Given the description of an element on the screen output the (x, y) to click on. 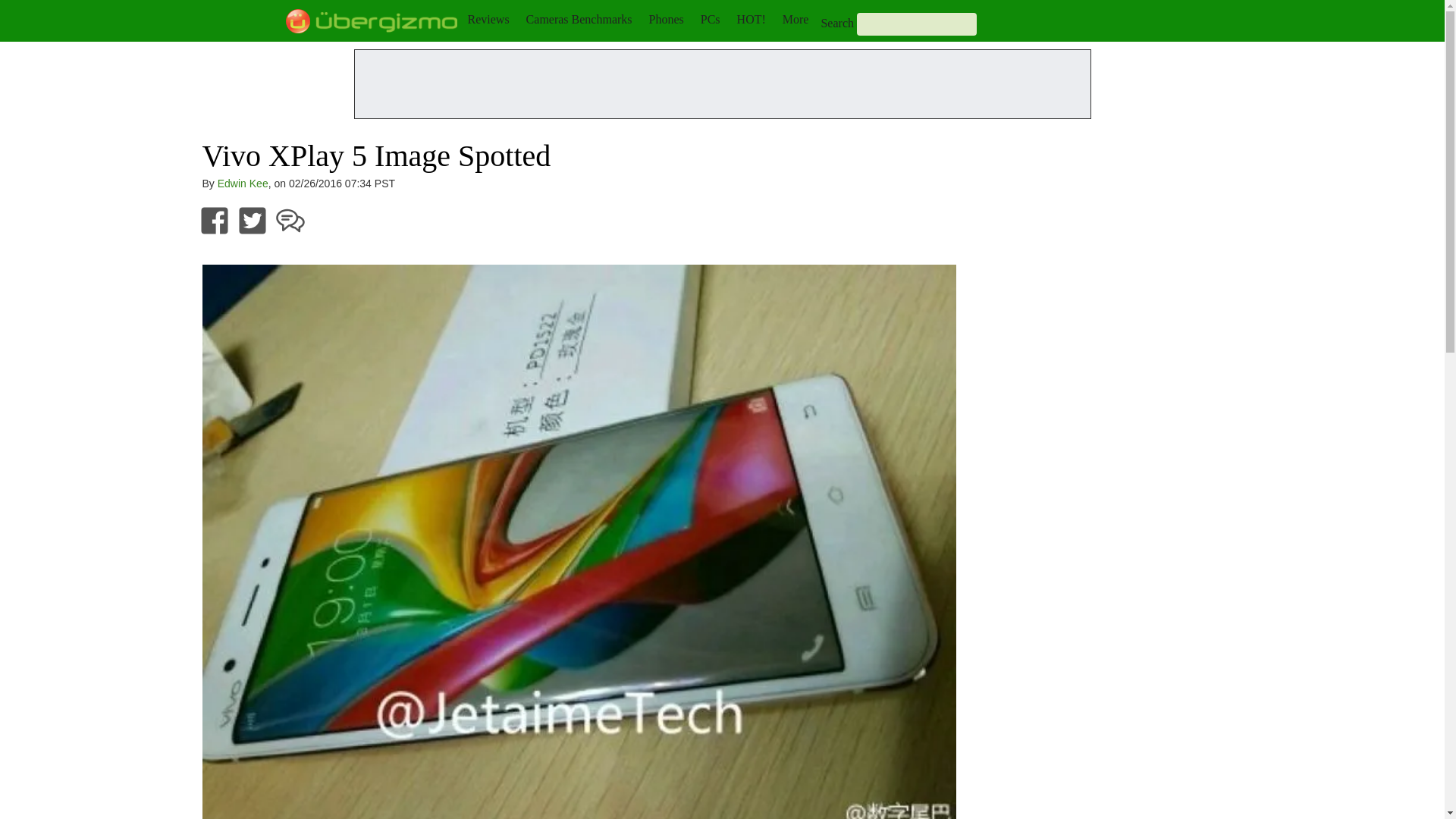
PCs (710, 19)
Cameras Benchmarks (578, 19)
Phones (666, 19)
Reviews (487, 19)
